Given the description of an element on the screen output the (x, y) to click on. 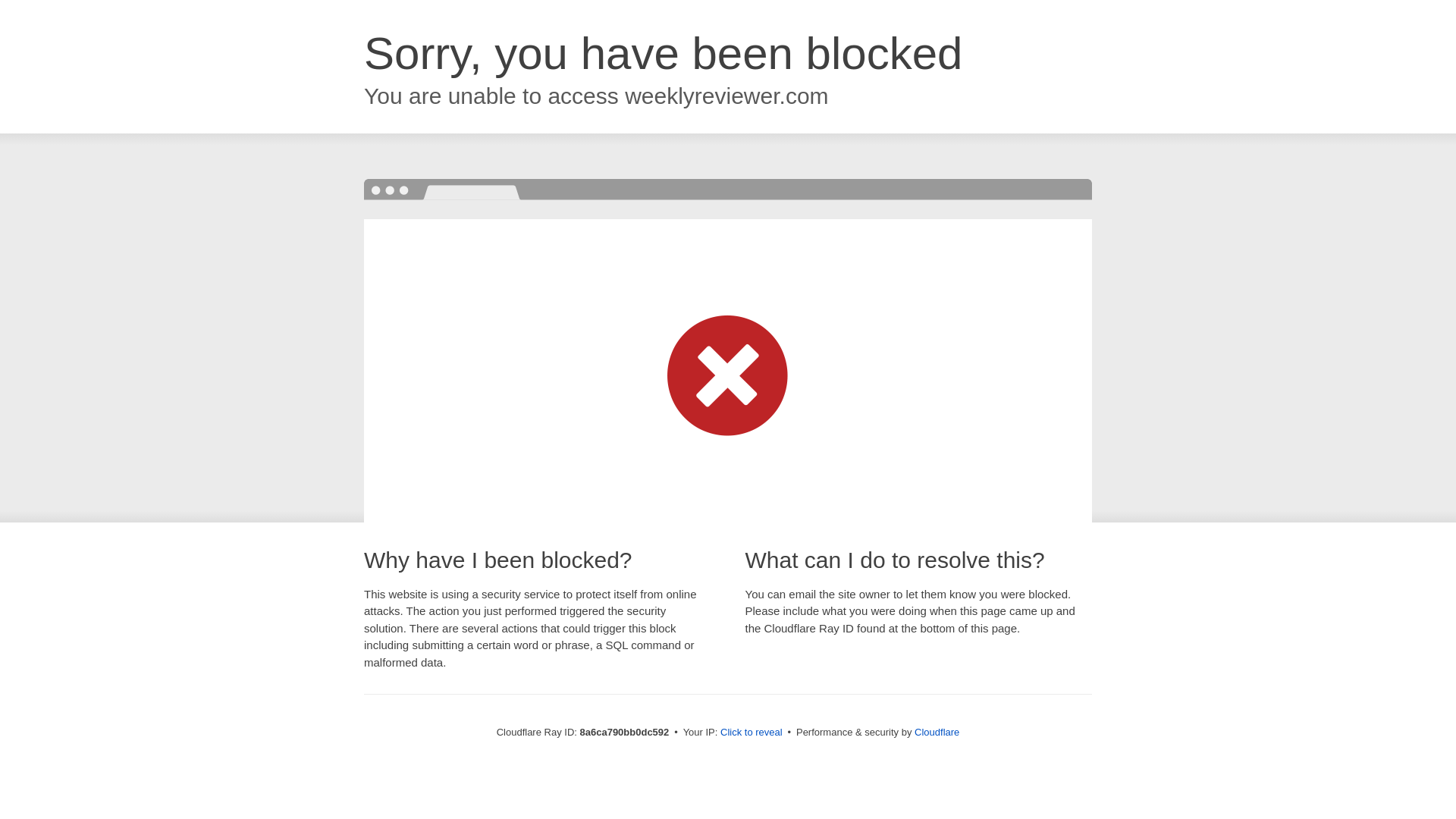
Cloudflare (936, 731)
Click to reveal (751, 732)
